Given the description of an element on the screen output the (x, y) to click on. 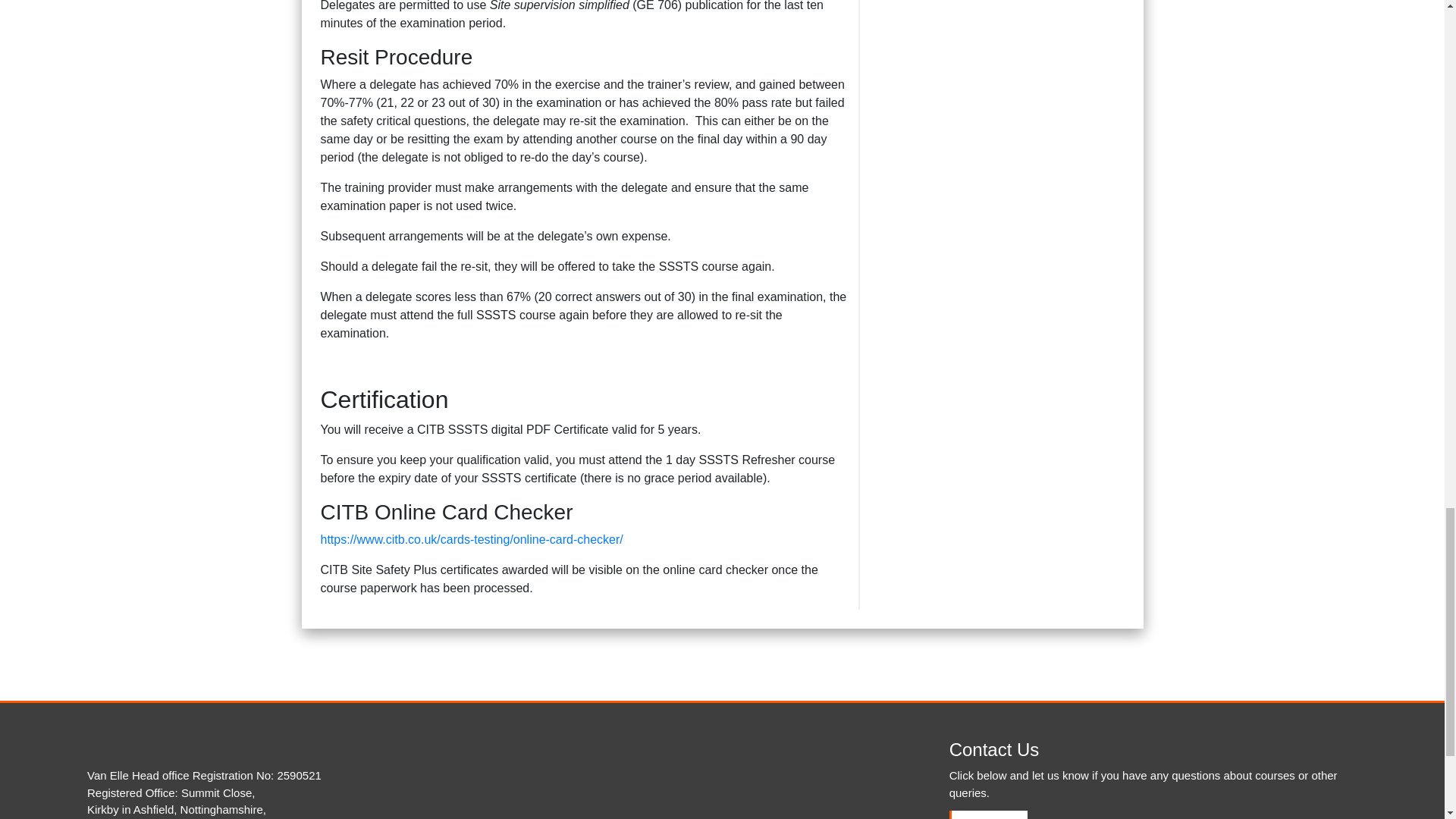
Contact (988, 814)
